Given the description of an element on the screen output the (x, y) to click on. 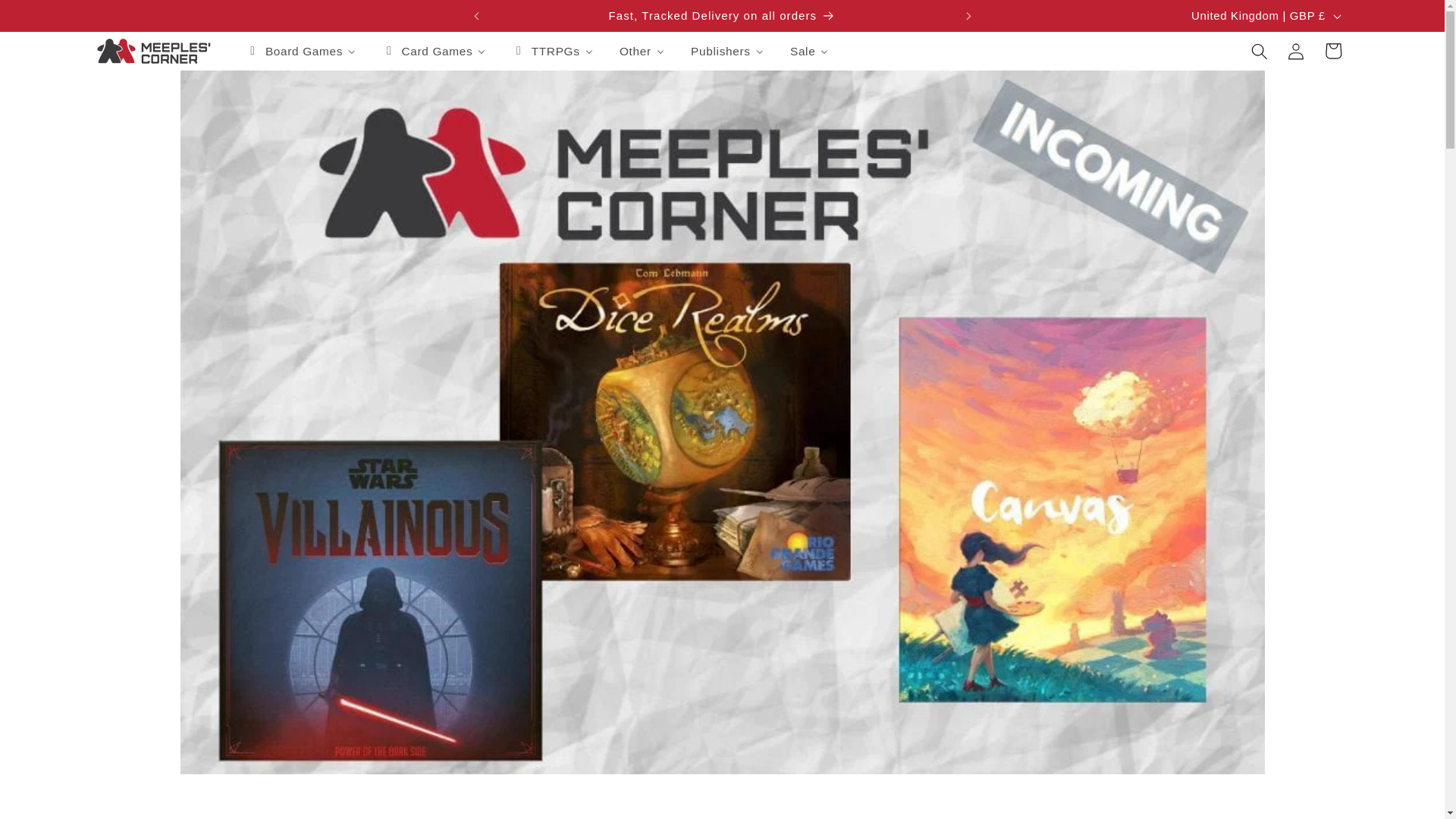
Skip to content (50, 19)
We Ship Worldwide! (1192, 15)
Fast, Tracked Delivery on all orders (722, 15)
